Given the description of an element on the screen output the (x, y) to click on. 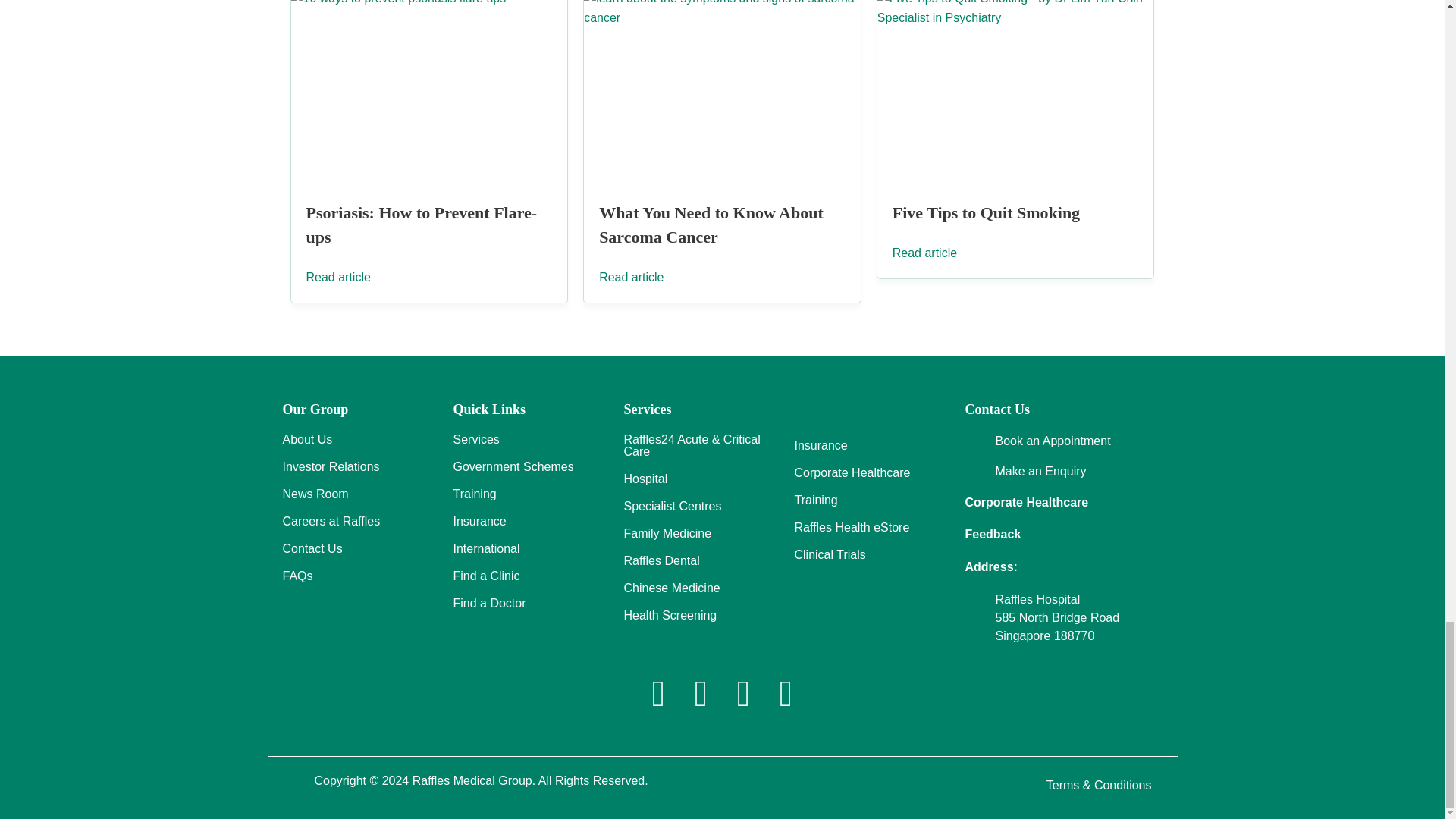
Five Tips to Quit Smoking (1015, 85)
Read More (642, 277)
What You Need to Know About Sarcoma Cancer (711, 224)
Read More (349, 277)
Five Tips to Quit Smoking (986, 212)
Psoriasis: How to Prevent Flare-ups (429, 85)
Psoriasis: How to Prevent Flare-ups (421, 224)
What You Need to Know About Sarcoma Cancer (721, 85)
Read More (936, 252)
